Given the description of an element on the screen output the (x, y) to click on. 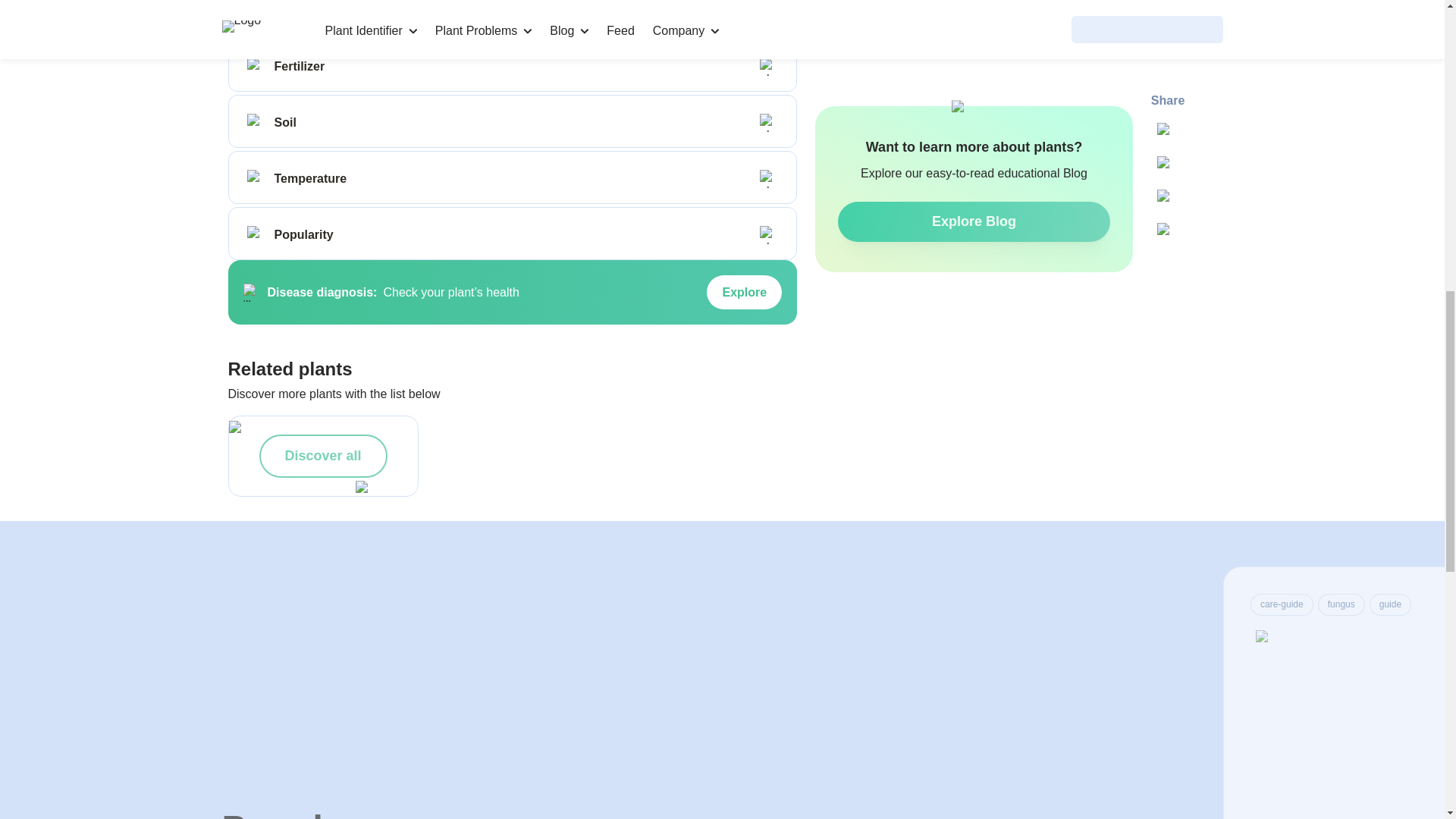
Explore (743, 292)
Soil (255, 122)
Sunlight (255, 10)
Fertilizer (255, 66)
Popularity (255, 235)
Temperature (255, 178)
